Given the description of an element on the screen output the (x, y) to click on. 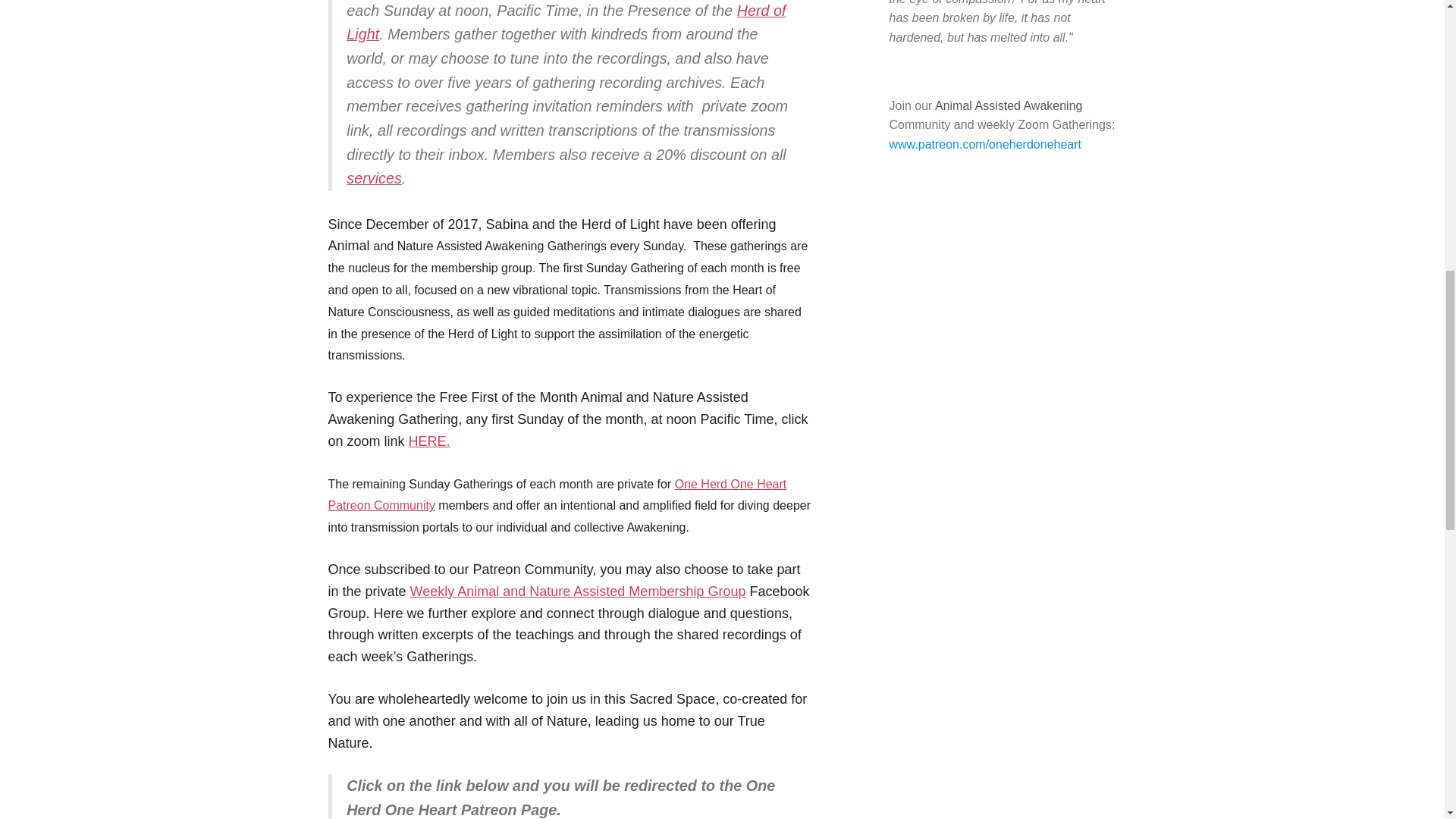
services (373, 177)
Herd of Light (566, 22)
One Herd One Heart Patreon Community (556, 494)
HERE. (429, 441)
Animal Assisted Awakening (1007, 105)
Weekly Animal and Nature Assisted Membership Group (577, 590)
